Given the description of an element on the screen output the (x, y) to click on. 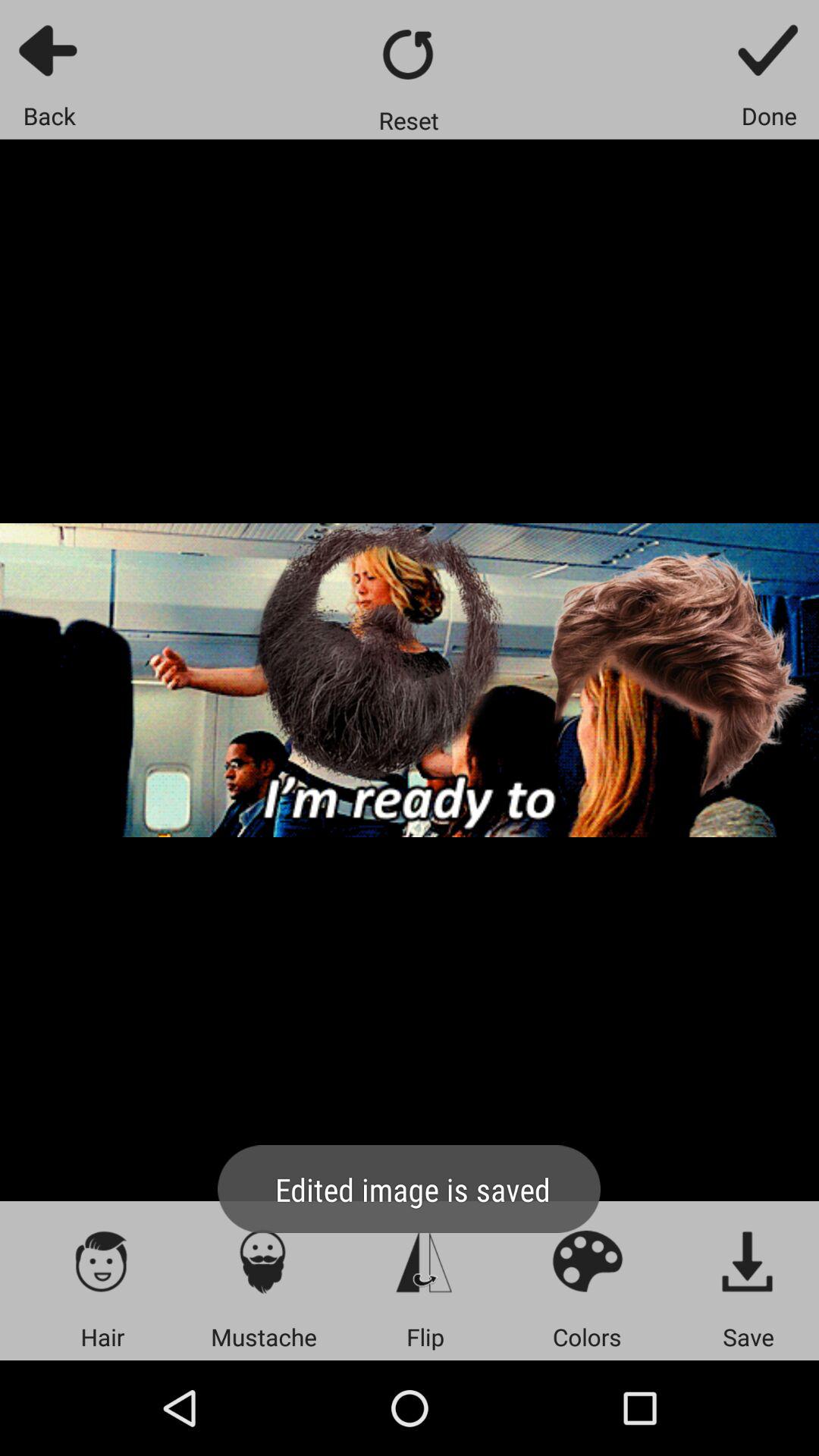
select done (769, 49)
